Given the description of an element on the screen output the (x, y) to click on. 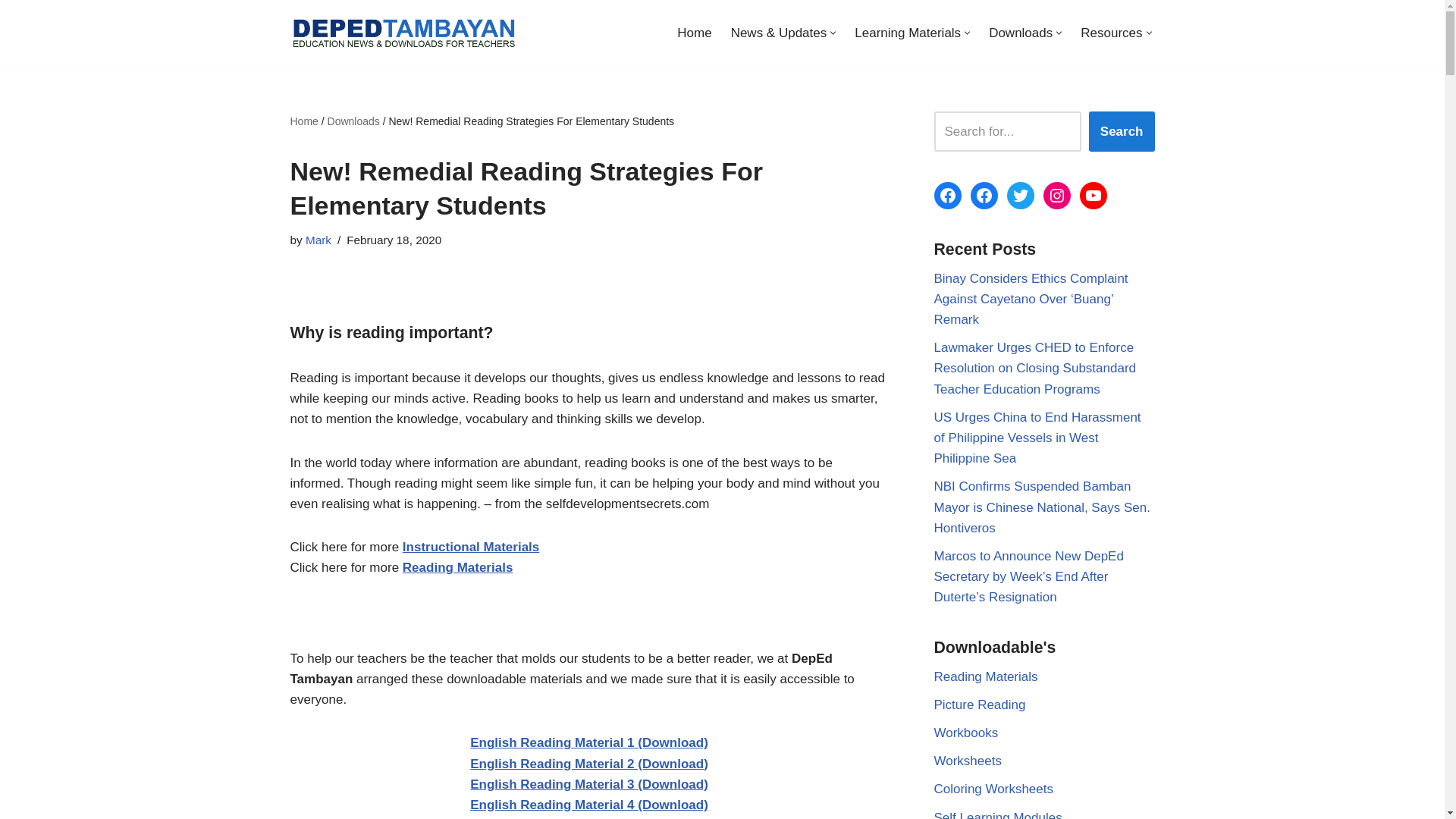
Downloads (1020, 33)
Learning Materials (907, 33)
Home (694, 33)
Skip to content (11, 31)
Posts by Mark (318, 239)
